Given the description of an element on the screen output the (x, y) to click on. 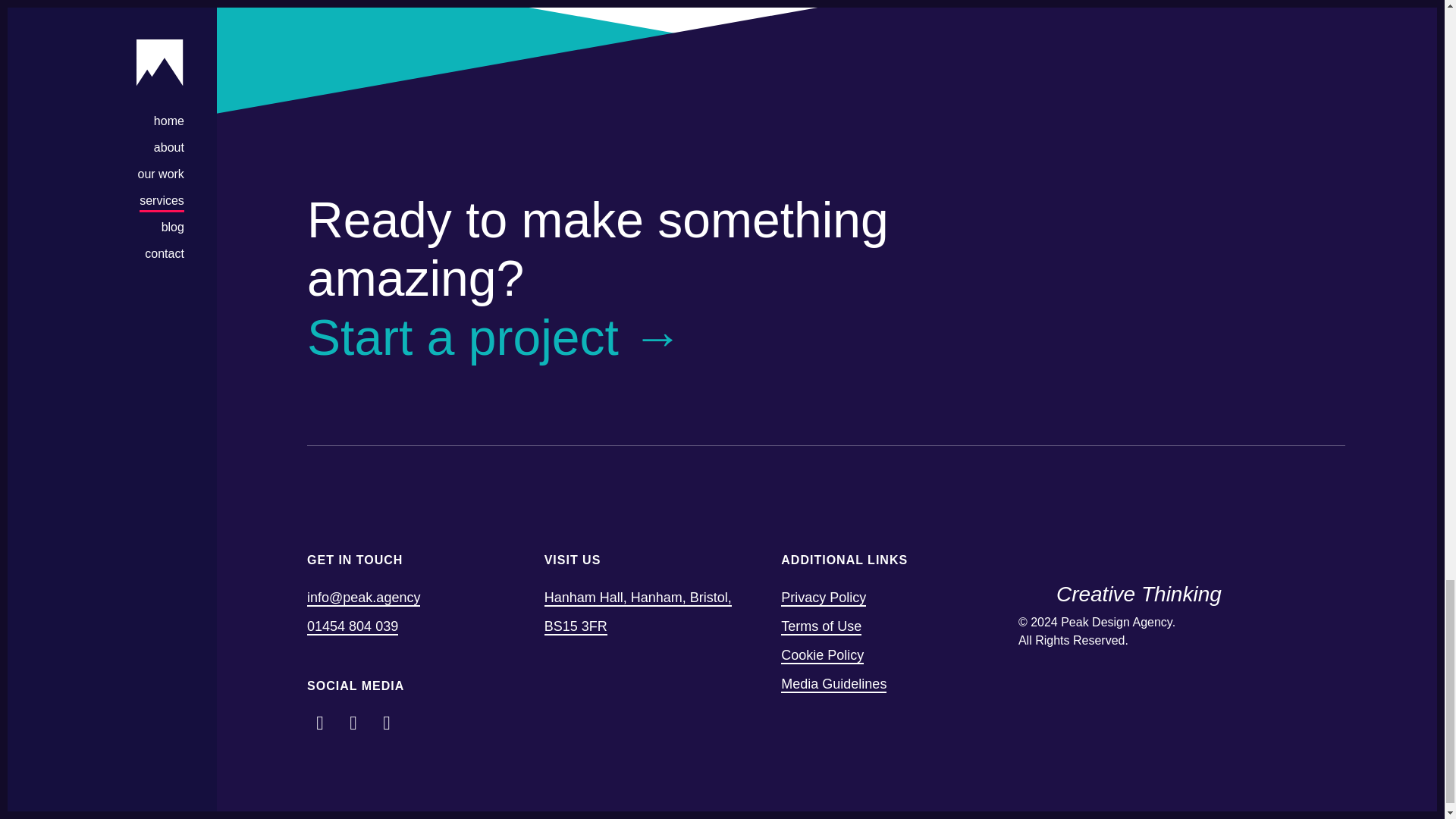
Privacy Policy (823, 597)
Cookie Policy (821, 655)
Peak Facebook (320, 721)
Peak Twitter (353, 721)
Hanham Hall, Hanham, Bristol, BS15 3FR (638, 612)
Terms of Use (820, 627)
Media Guidelines (833, 684)
Peak LinkedIn (386, 721)
01454 804 039 (352, 627)
